Given the description of an element on the screen output the (x, y) to click on. 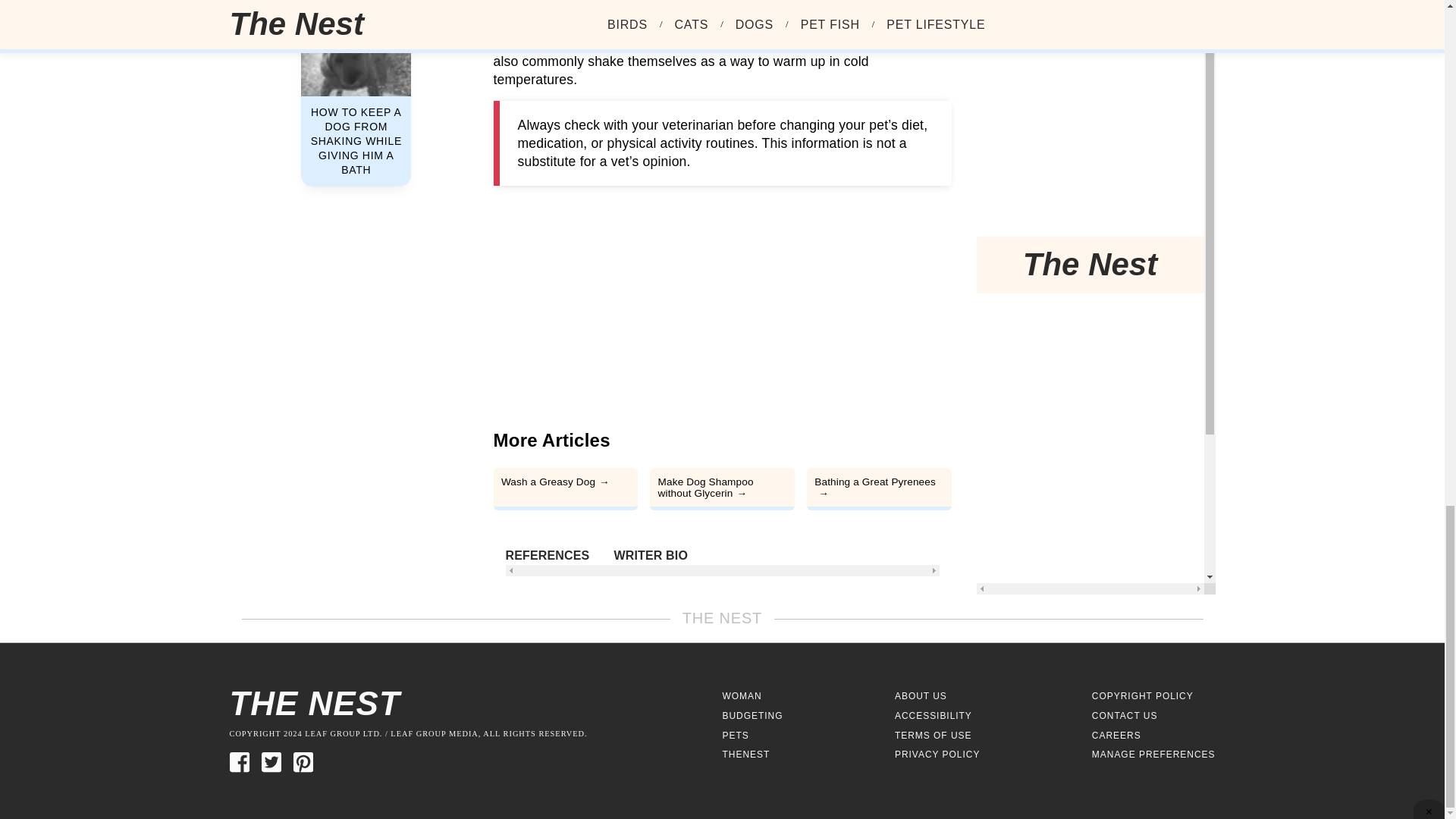
PETS (735, 735)
PRIVACY POLICY (937, 754)
THE NEST (475, 703)
MANAGE PREFERENCES (1153, 754)
CONTACT US (1124, 715)
BUDGETING (752, 715)
THENEST (746, 754)
TERMS OF USE (933, 735)
WOMAN (741, 696)
CAREERS (1116, 735)
ABOUT US (921, 696)
COPYRIGHT POLICY (1142, 696)
ACCESSIBILITY (933, 715)
